Given the description of an element on the screen output the (x, y) to click on. 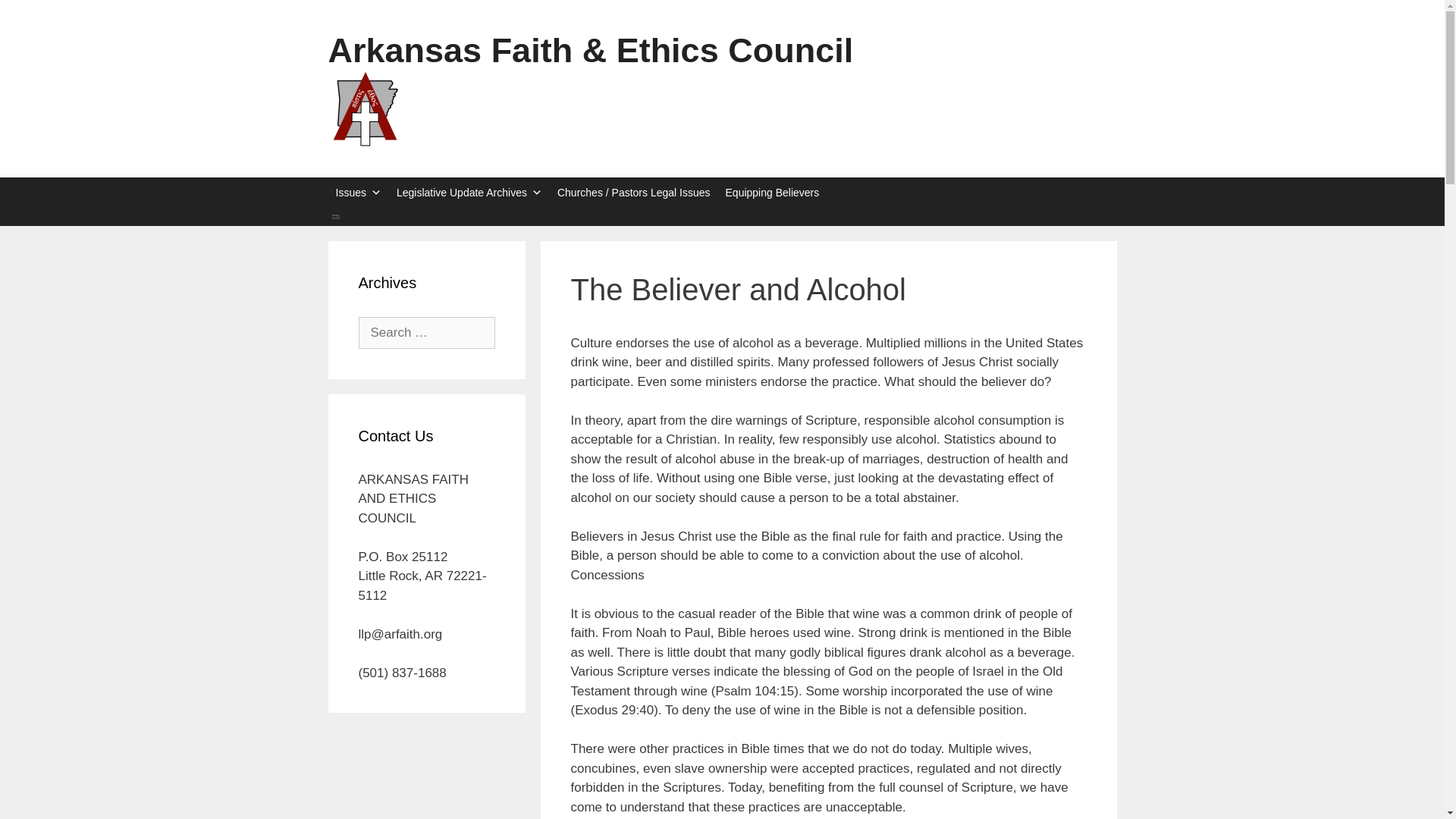
Search (721, 217)
Issues (357, 192)
Search for: (426, 332)
